Given the description of an element on the screen output the (x, y) to click on. 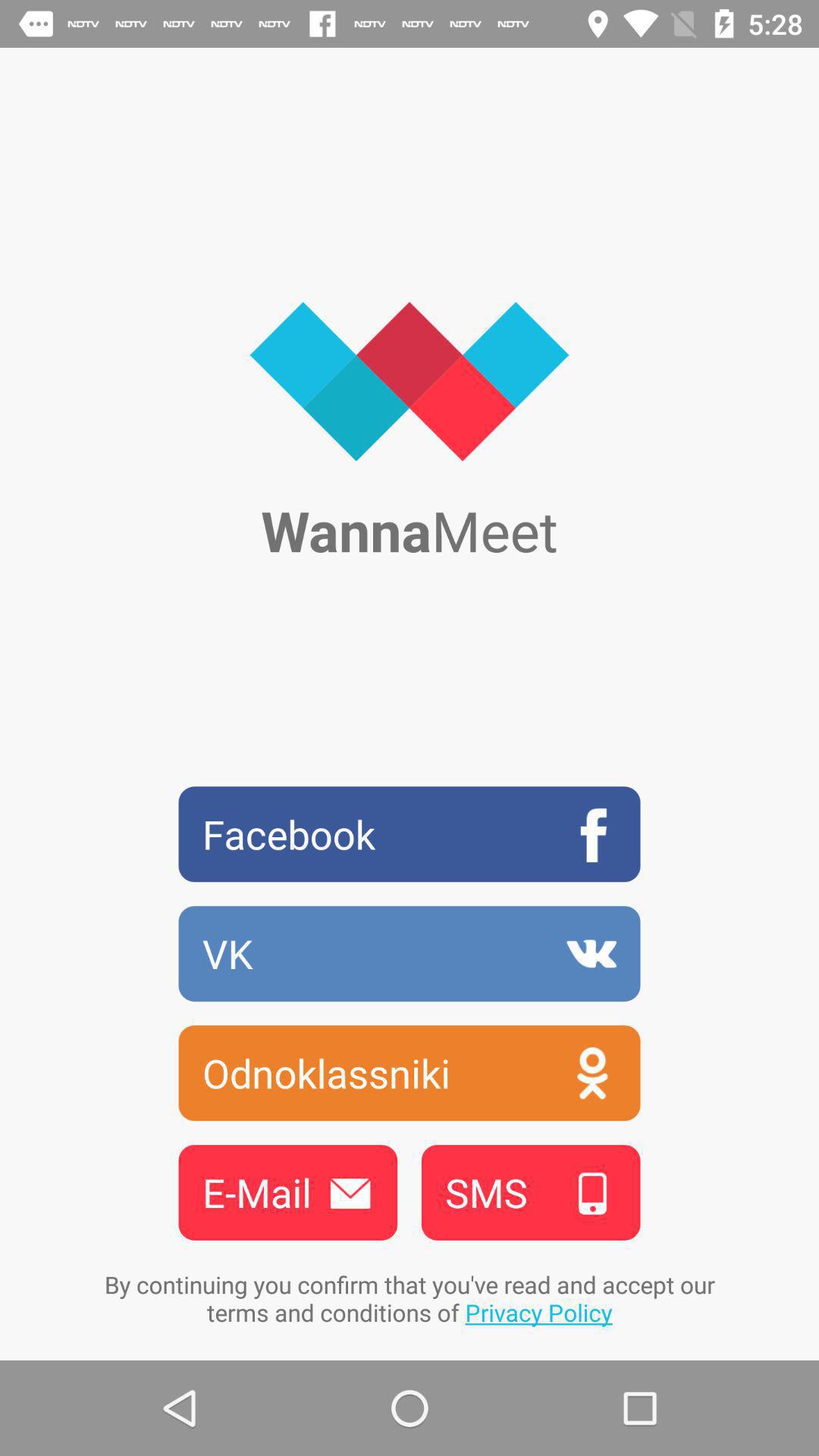
turn off icon next to e-mail item (530, 1192)
